Given the description of an element on the screen output the (x, y) to click on. 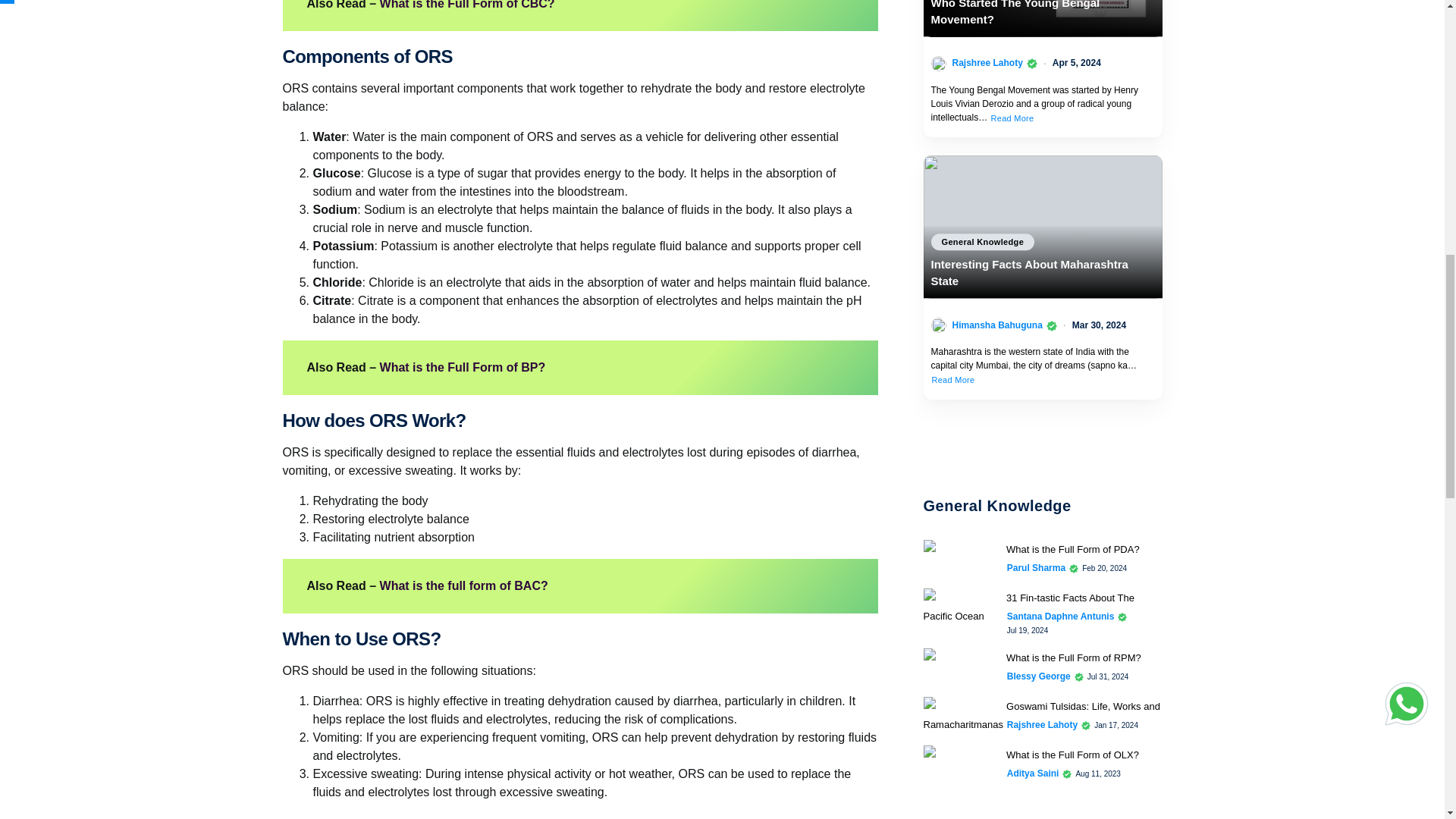
View all posts by Parul Sharma (1036, 567)
View all posts by Rajshree Lahoty (987, 62)
View all posts by Rajshree Lahoty (1042, 725)
View all posts by Blessy George (1038, 676)
View all posts by Santana Daphne Antunis (1061, 616)
View all posts by Himansha Bahuguna (997, 325)
View all posts by Aditya Saini (1033, 773)
